Given the description of an element on the screen output the (x, y) to click on. 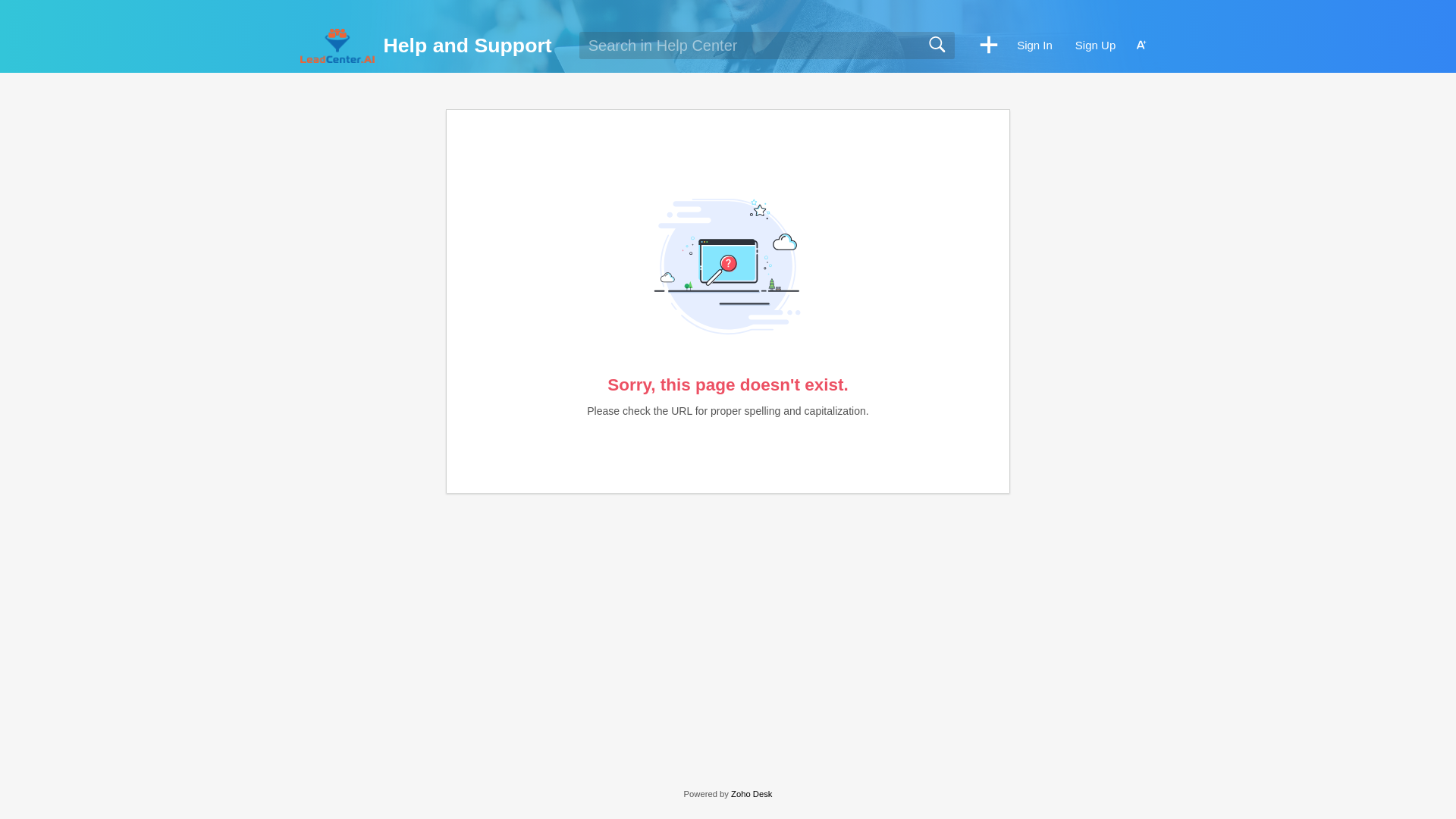
Zoho Desk (750, 793)
Sign In (1034, 45)
Search (936, 44)
Sign Up (1095, 45)
Help and Support (467, 45)
